Given the description of an element on the screen output the (x, y) to click on. 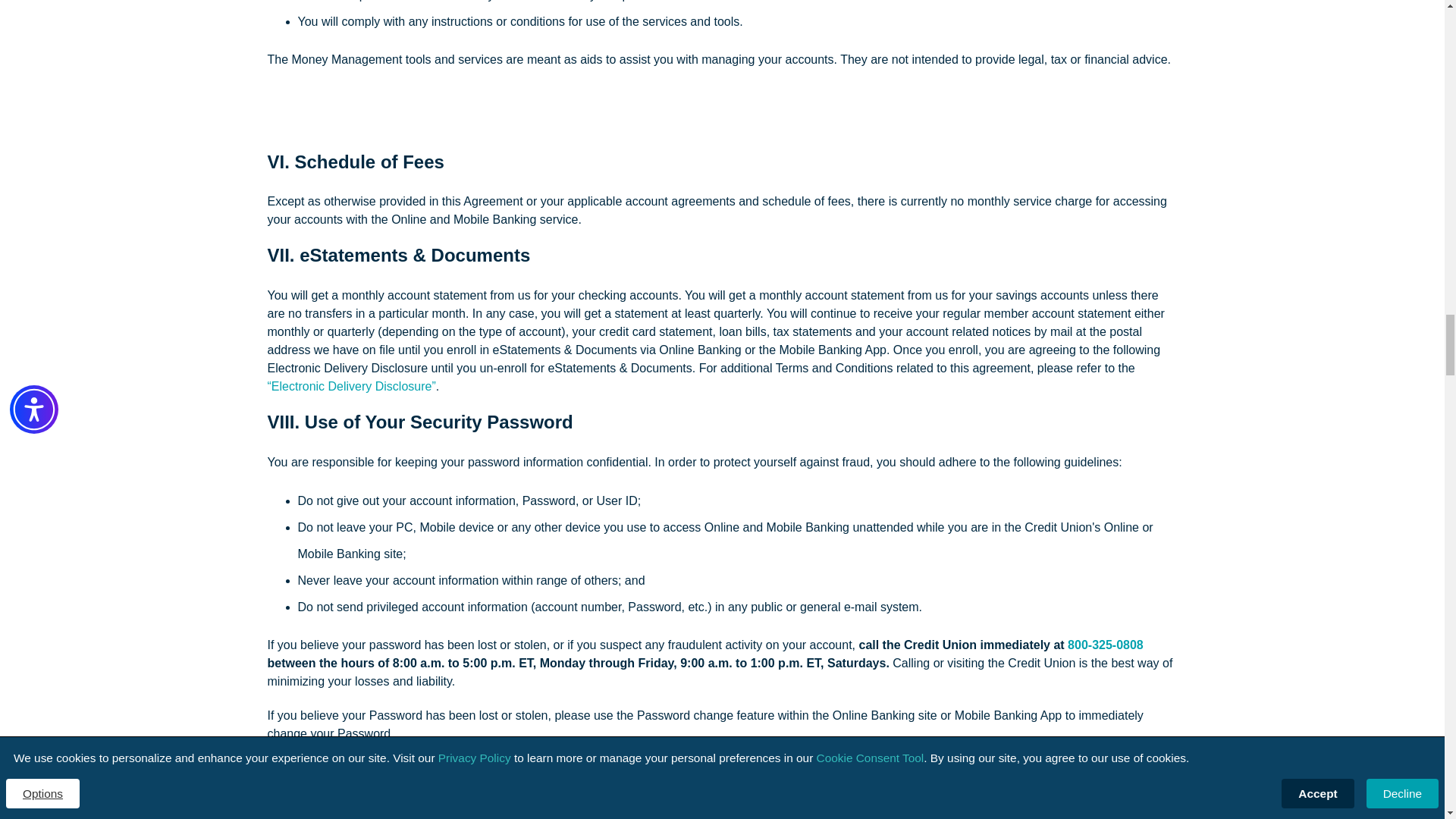
Dial 1-800-325-0808 (1104, 644)
